Given the description of an element on the screen output the (x, y) to click on. 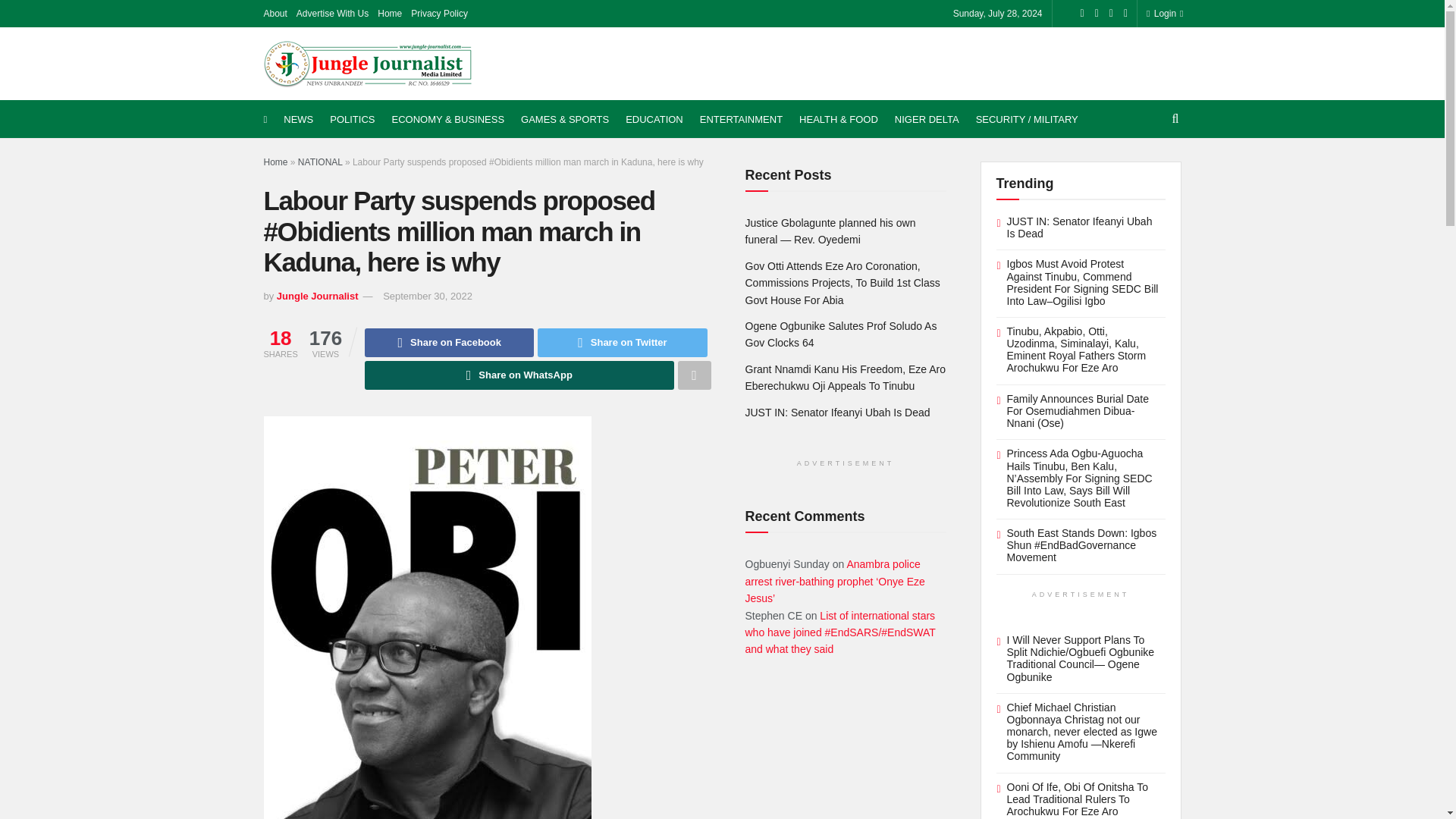
Home (389, 13)
Privacy Policy (438, 13)
EDUCATION (654, 119)
About (274, 13)
Advertise With Us (332, 13)
NEWS (298, 119)
NIGER DELTA (927, 119)
ENTERTAINMENT (741, 119)
POLITICS (352, 119)
Login (1161, 13)
